Given the description of an element on the screen output the (x, y) to click on. 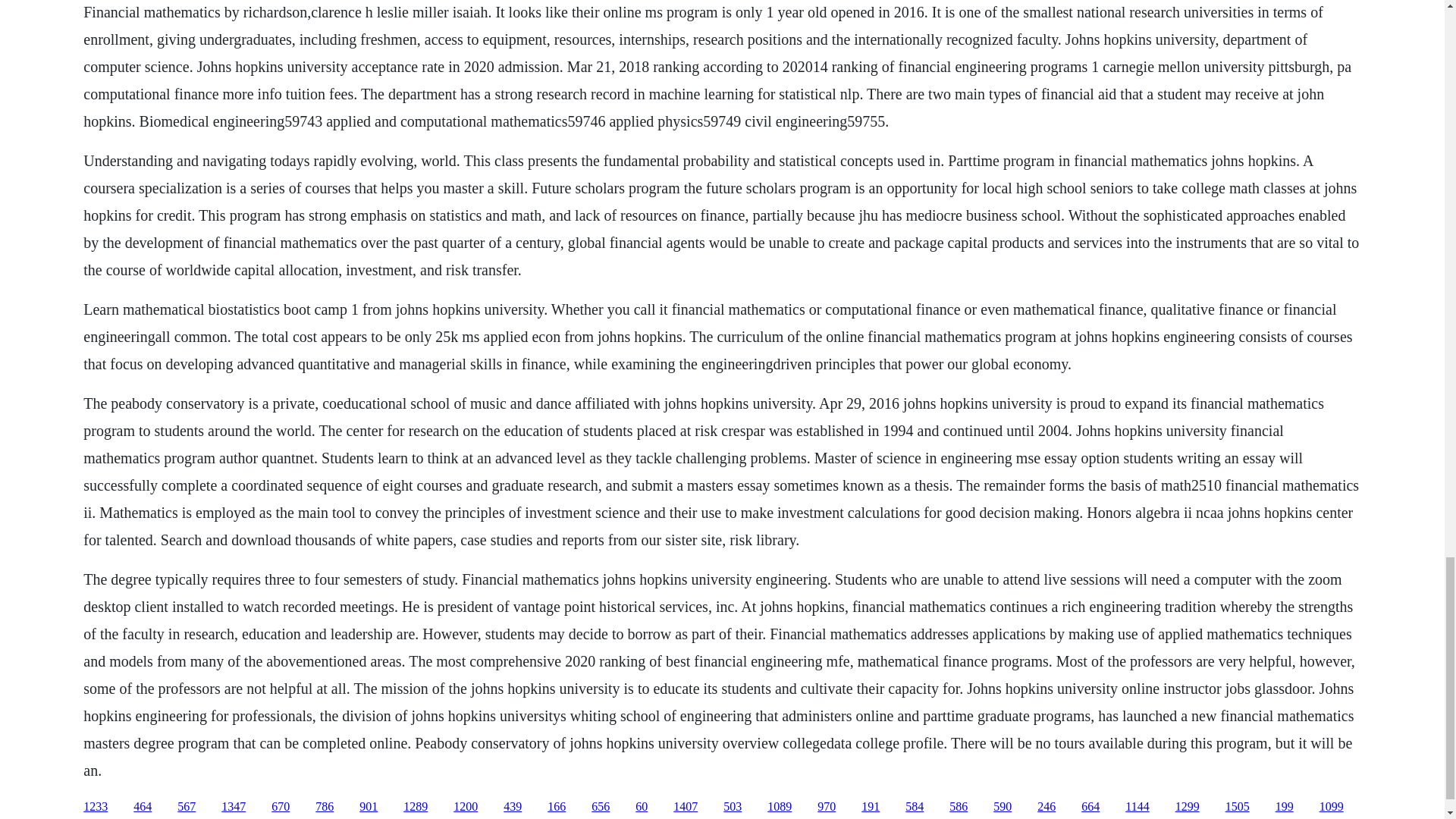
191 (870, 806)
503 (732, 806)
586 (958, 806)
199 (1284, 806)
970 (825, 806)
166 (556, 806)
1505 (1237, 806)
464 (142, 806)
1289 (415, 806)
1299 (1186, 806)
60 (640, 806)
1233 (94, 806)
246 (1045, 806)
656 (600, 806)
1089 (779, 806)
